Given the description of an element on the screen output the (x, y) to click on. 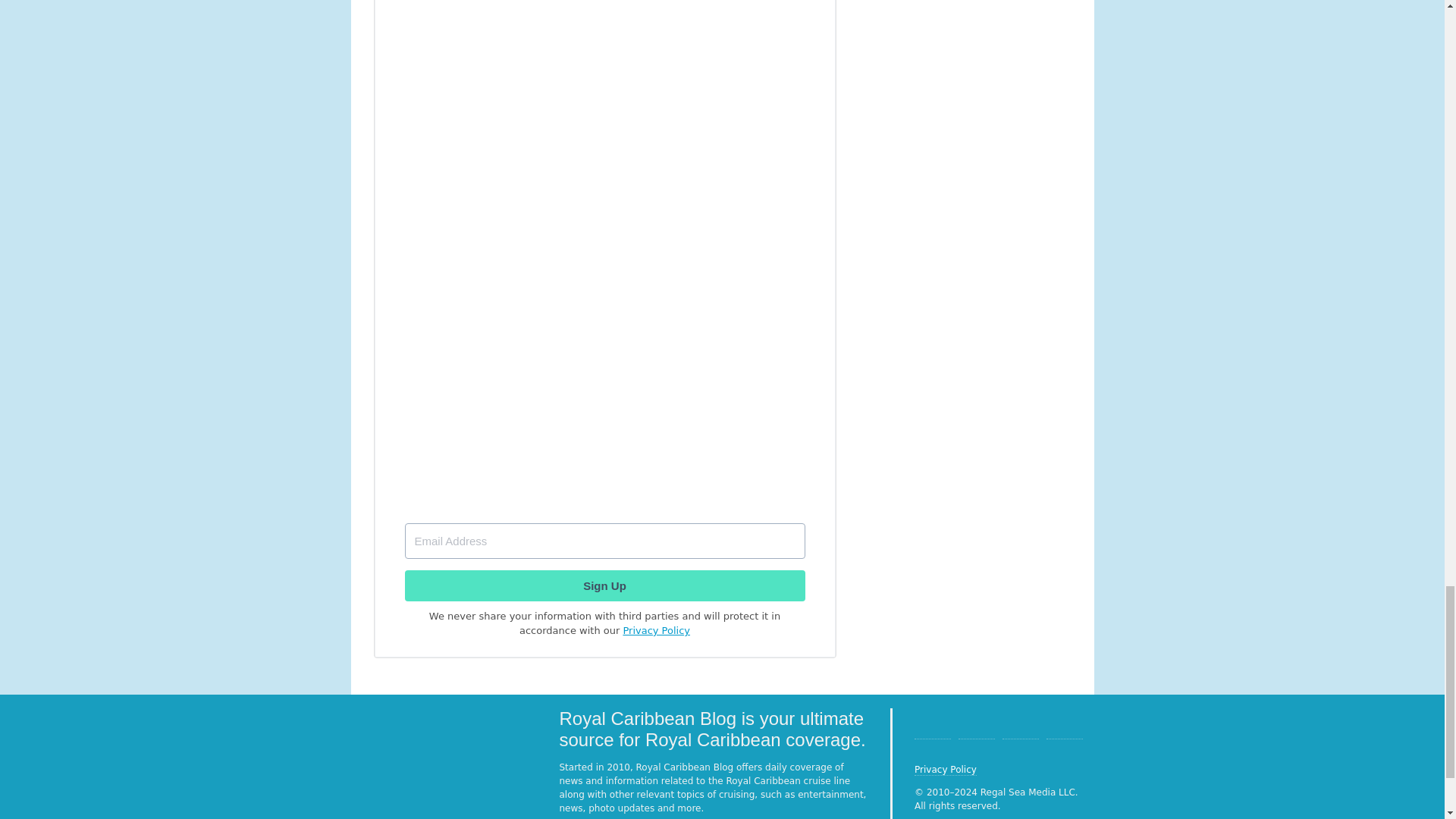
Privacy Policy (656, 630)
Privacy Policy (945, 769)
Sign Up (604, 585)
